Given the description of an element on the screen output the (x, y) to click on. 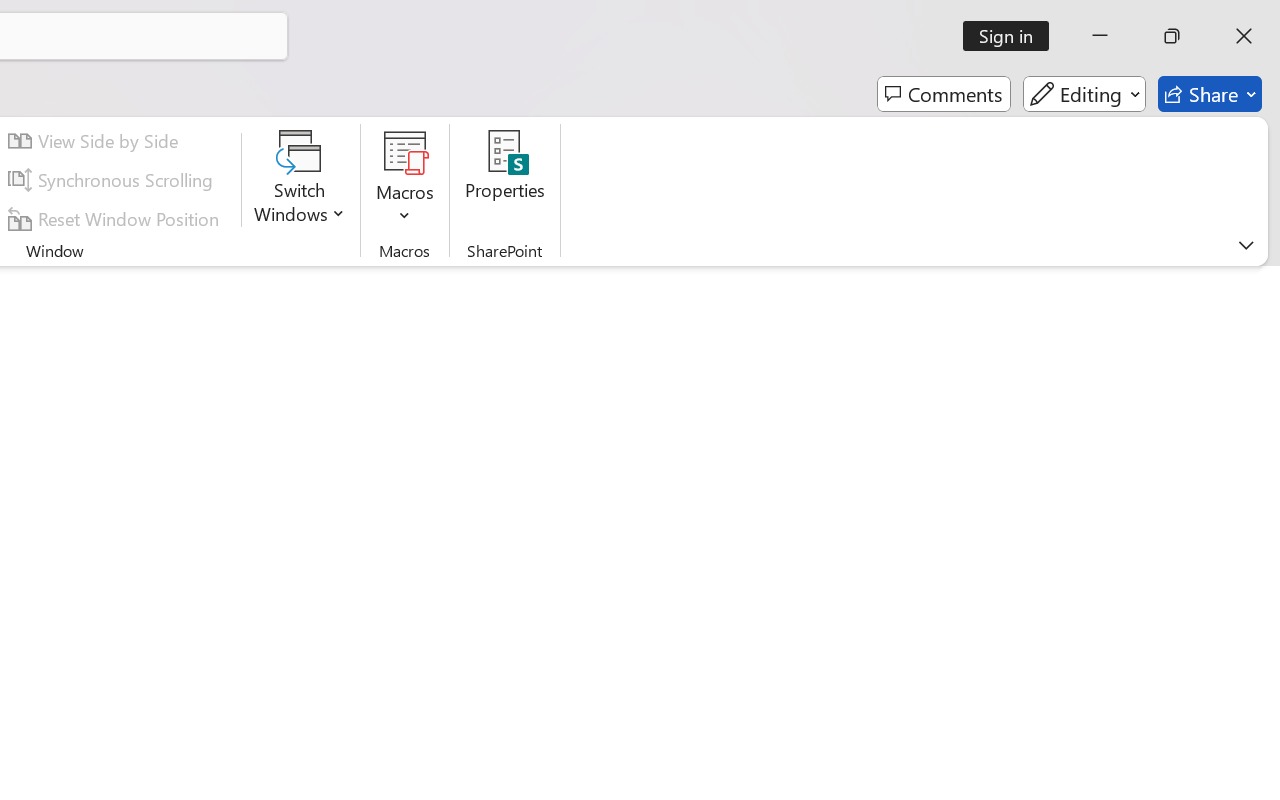
View Macros (404, 151)
